Given the description of an element on the screen output the (x, y) to click on. 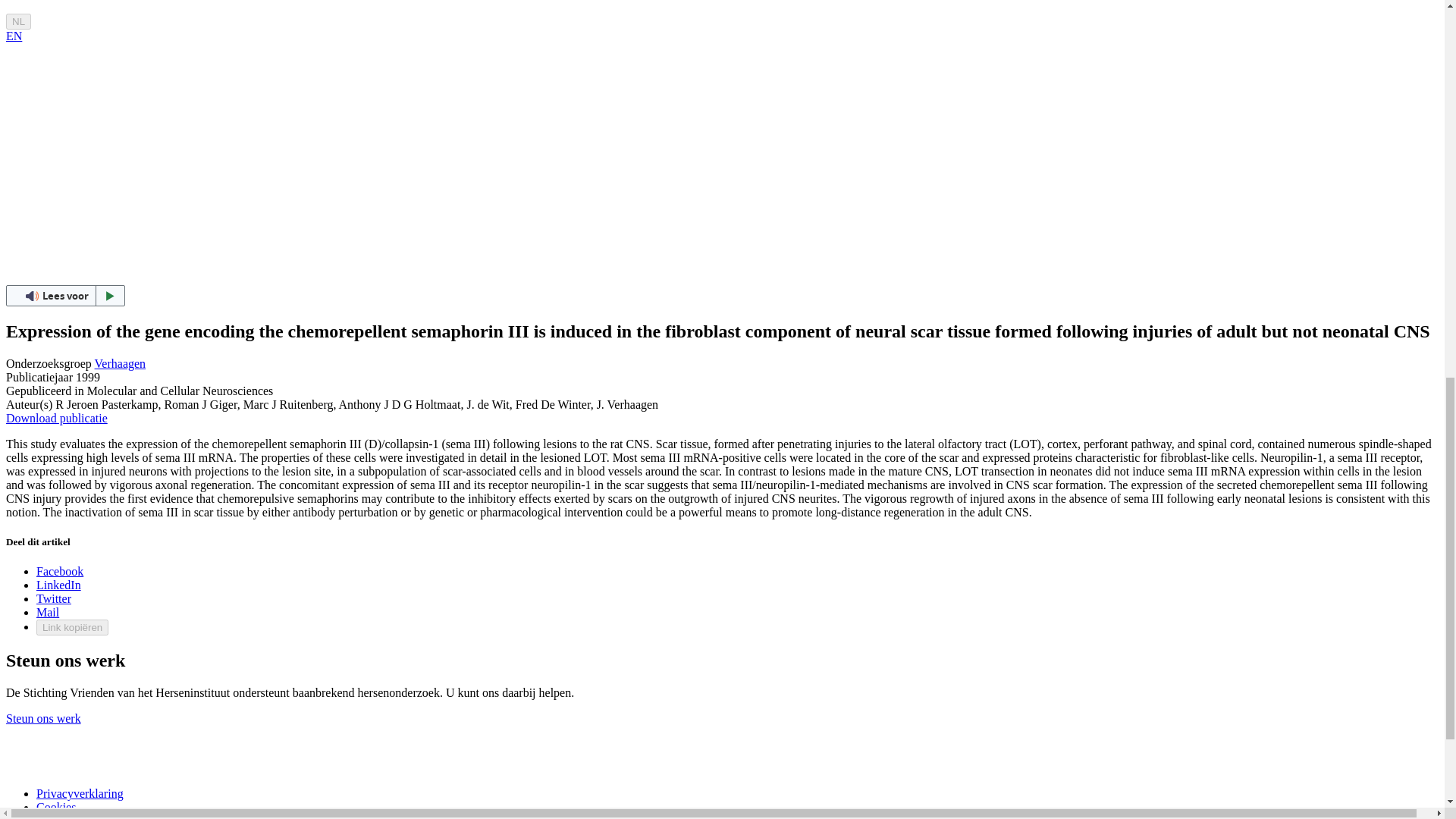
Share on LinkedIn (58, 584)
Laat de tekst voorlezen met ReadSpeaker webReader (65, 295)
Share on Facebook (59, 571)
Share via mail (47, 612)
Tweet (53, 598)
Share link (71, 627)
